Given the description of an element on the screen output the (x, y) to click on. 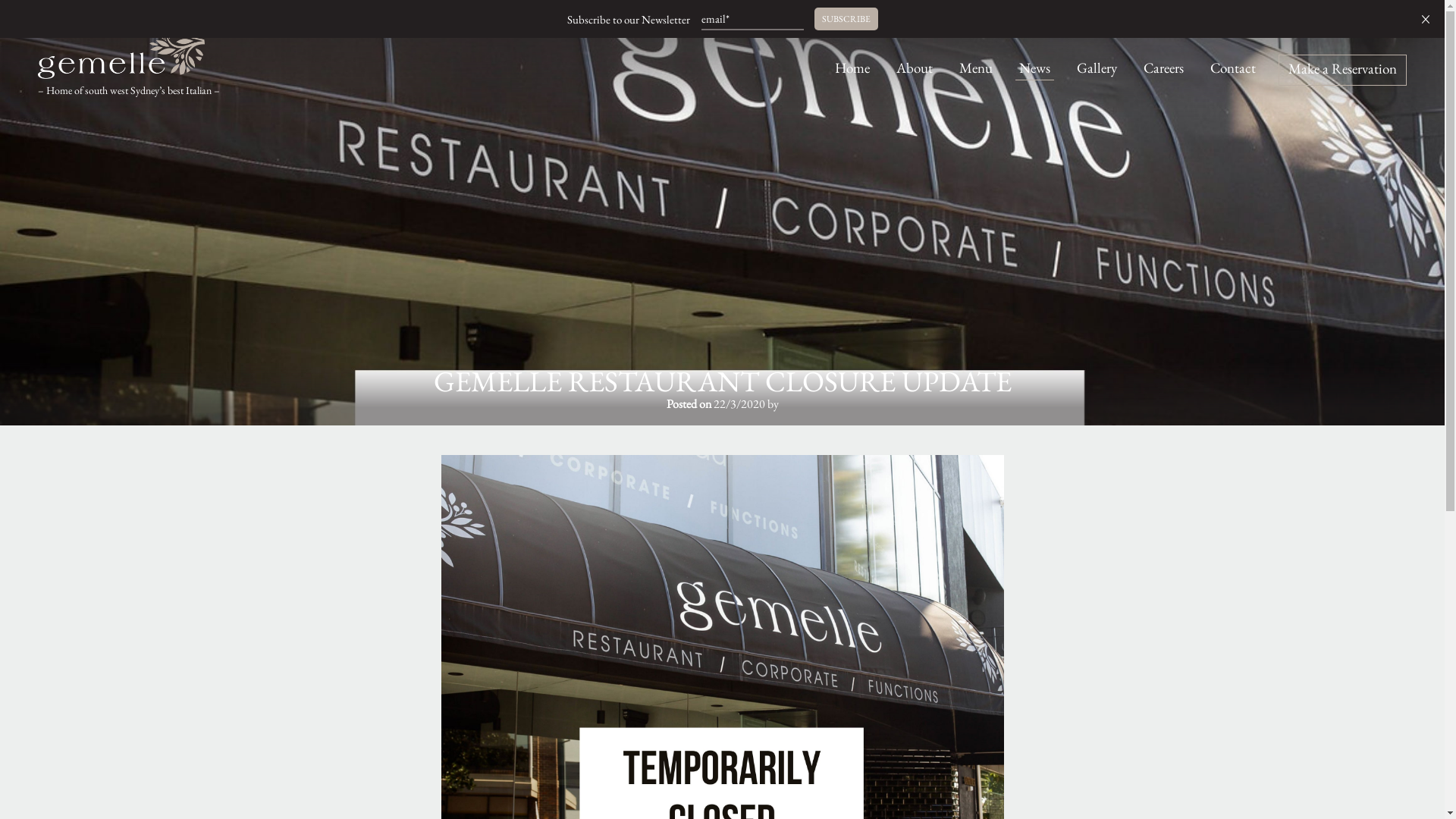
Menu Element type: text (975, 67)
Make a Reservation Element type: text (1342, 69)
Careers Element type: text (1163, 67)
News Element type: text (1034, 67)
Gallery Element type: text (1096, 67)
Close Element type: text (1425, 18)
Home Element type: text (852, 67)
About Element type: text (914, 67)
SUBSCRIBE Element type: text (846, 18)
Contact Element type: text (1232, 67)
